Given the description of an element on the screen output the (x, y) to click on. 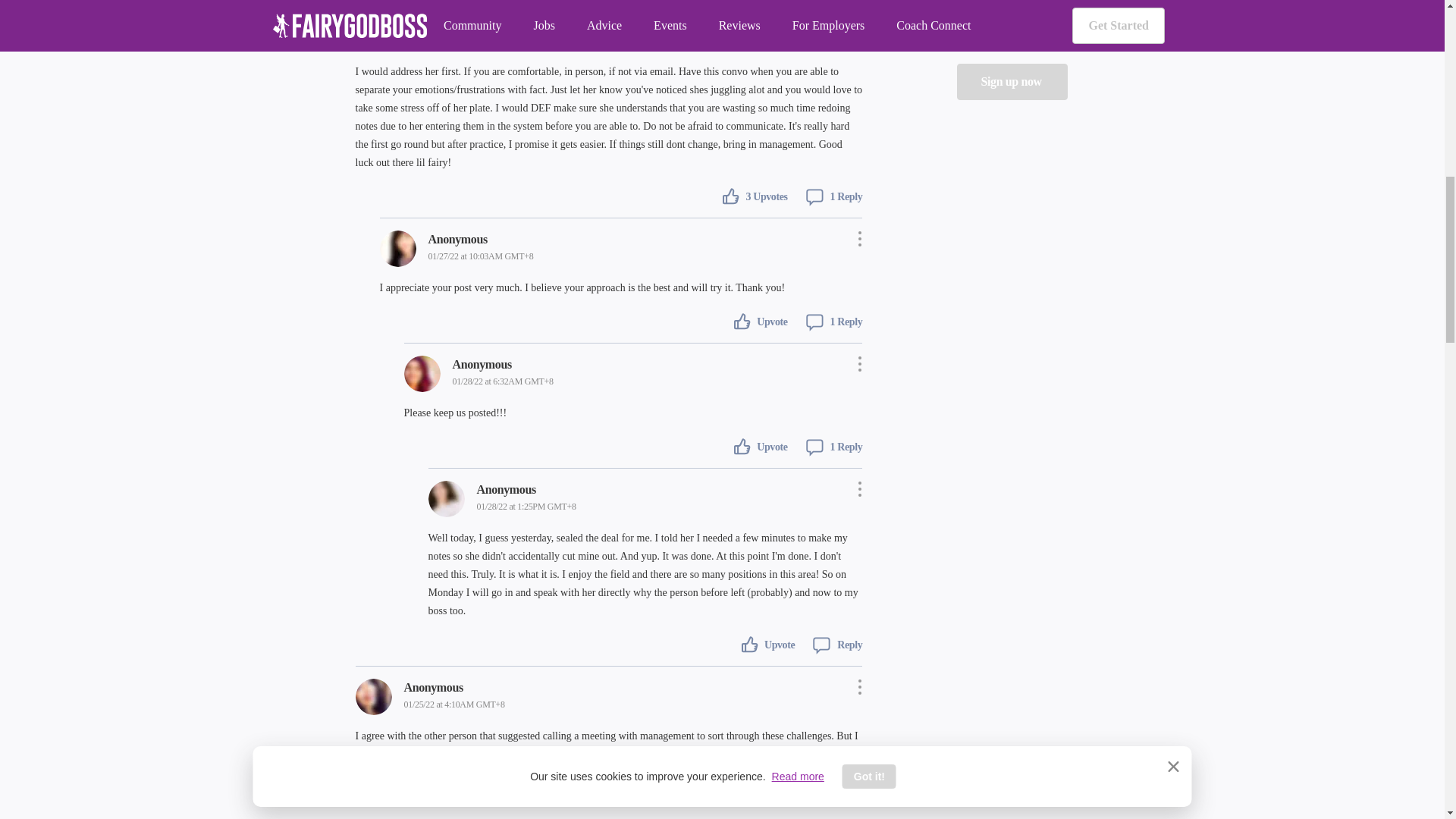
3 Upvotes (754, 194)
1 Reply (828, 194)
Sign up now (1011, 81)
